Given the description of an element on the screen output the (x, y) to click on. 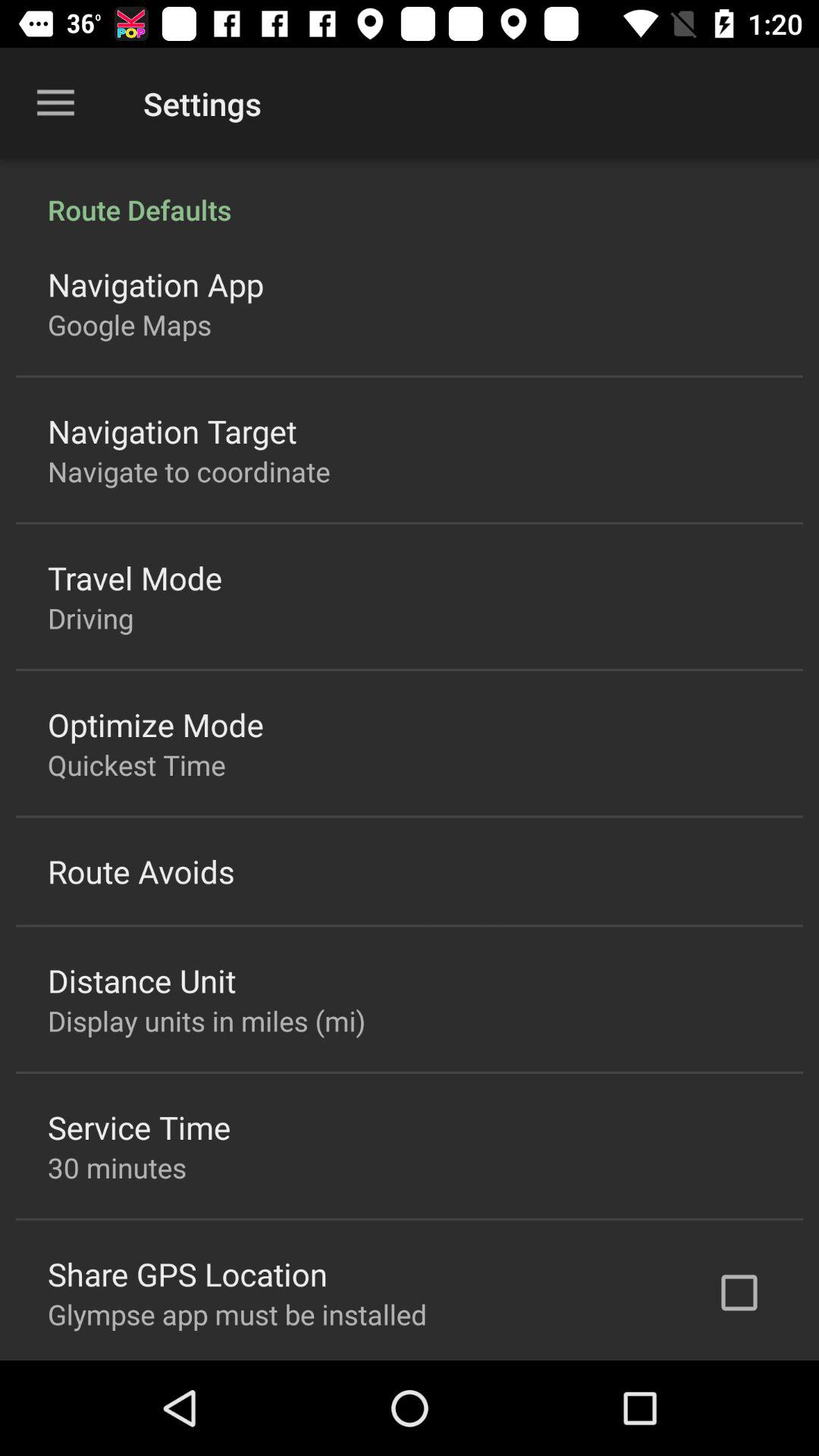
press the item below distance unit item (206, 1020)
